Given the description of an element on the screen output the (x, y) to click on. 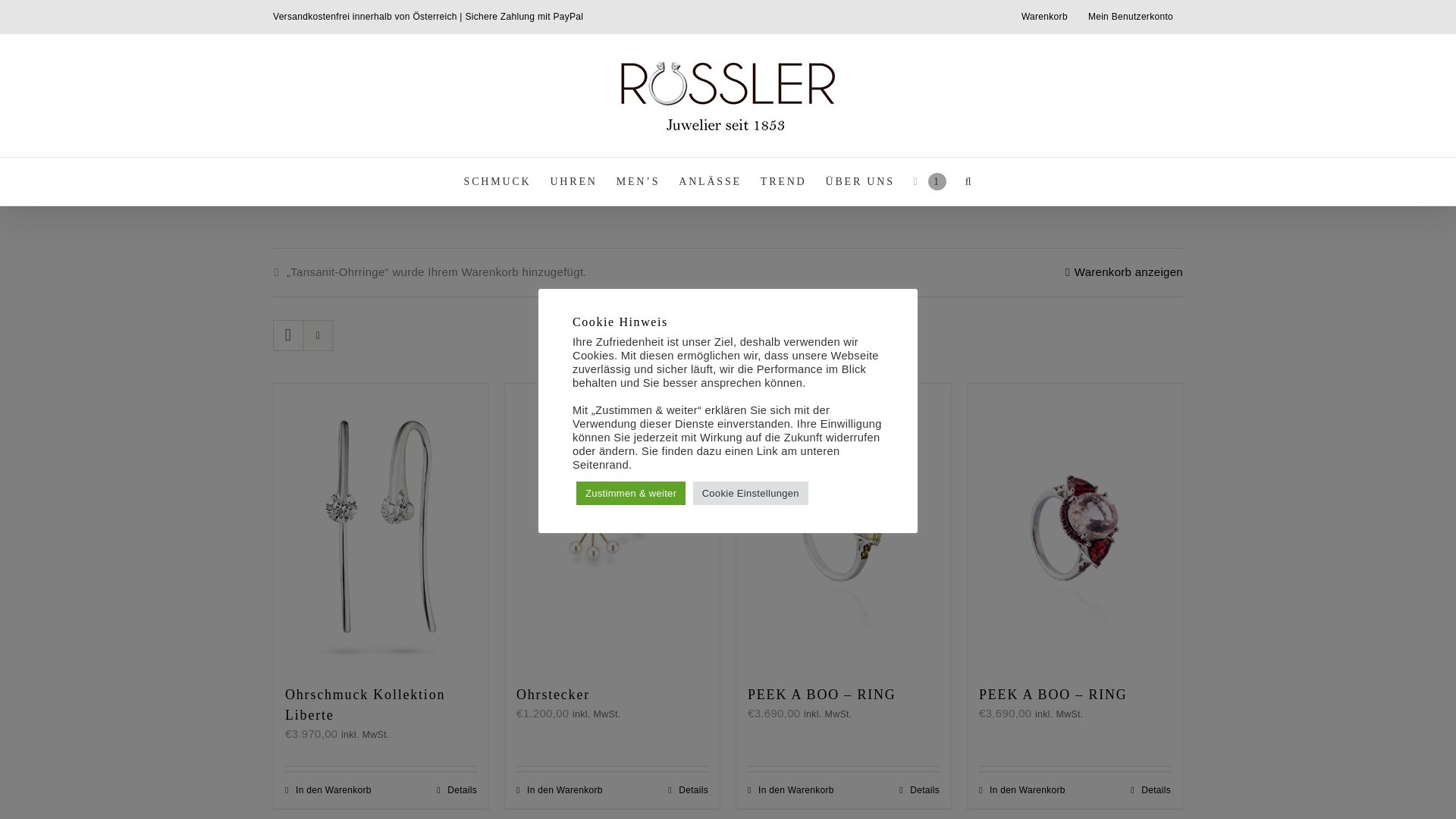
Cookie Einstellungen Element type: text (750, 493)
In den Warenkorb Element type: text (559, 790)
SCHMUCK Element type: text (497, 181)
Anmelden Element type: text (1157, 144)
Suche Element type: hover (969, 181)
Details Element type: text (919, 790)
Mein Benutzerkonto Element type: text (1130, 16)
Details Element type: text (1150, 790)
1 Element type: text (929, 181)
In den Warenkorb Element type: text (328, 790)
Zustimmen & weiter Element type: text (630, 493)
In den Warenkorb Element type: text (1022, 790)
Details Element type: text (456, 790)
TREND Element type: text (783, 181)
UHREN Element type: text (572, 181)
Warenkorb anzeigen Element type: text (1124, 272)
Warenkorb Element type: text (1044, 16)
Details Element type: text (688, 790)
Ohrstecker Element type: text (552, 694)
In den Warenkorb Element type: text (790, 790)
Ohrschmuck Kollektion Liberte Element type: text (365, 704)
